Given the description of an element on the screen output the (x, y) to click on. 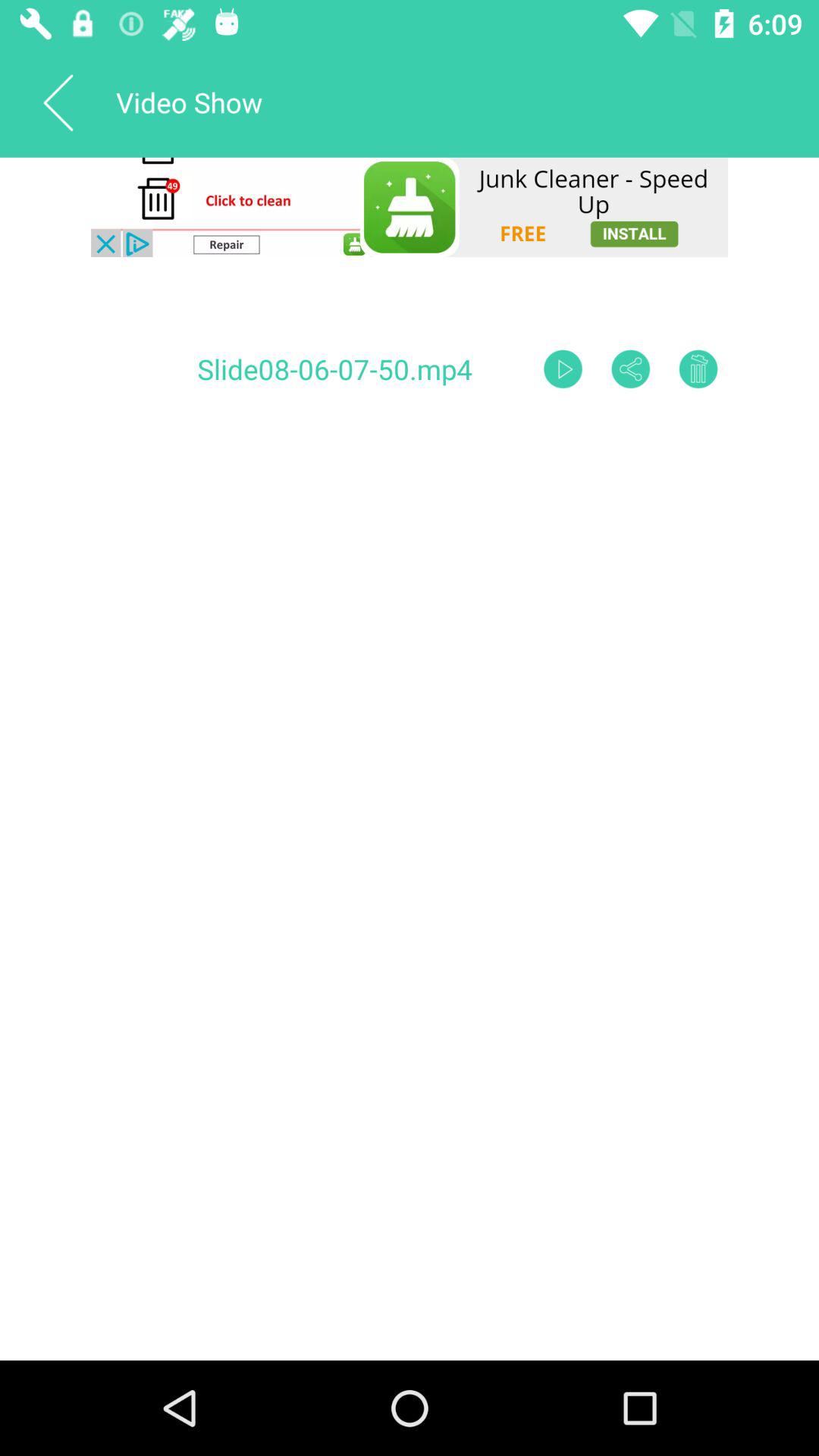
share the slide (630, 369)
